Given the description of an element on the screen output the (x, y) to click on. 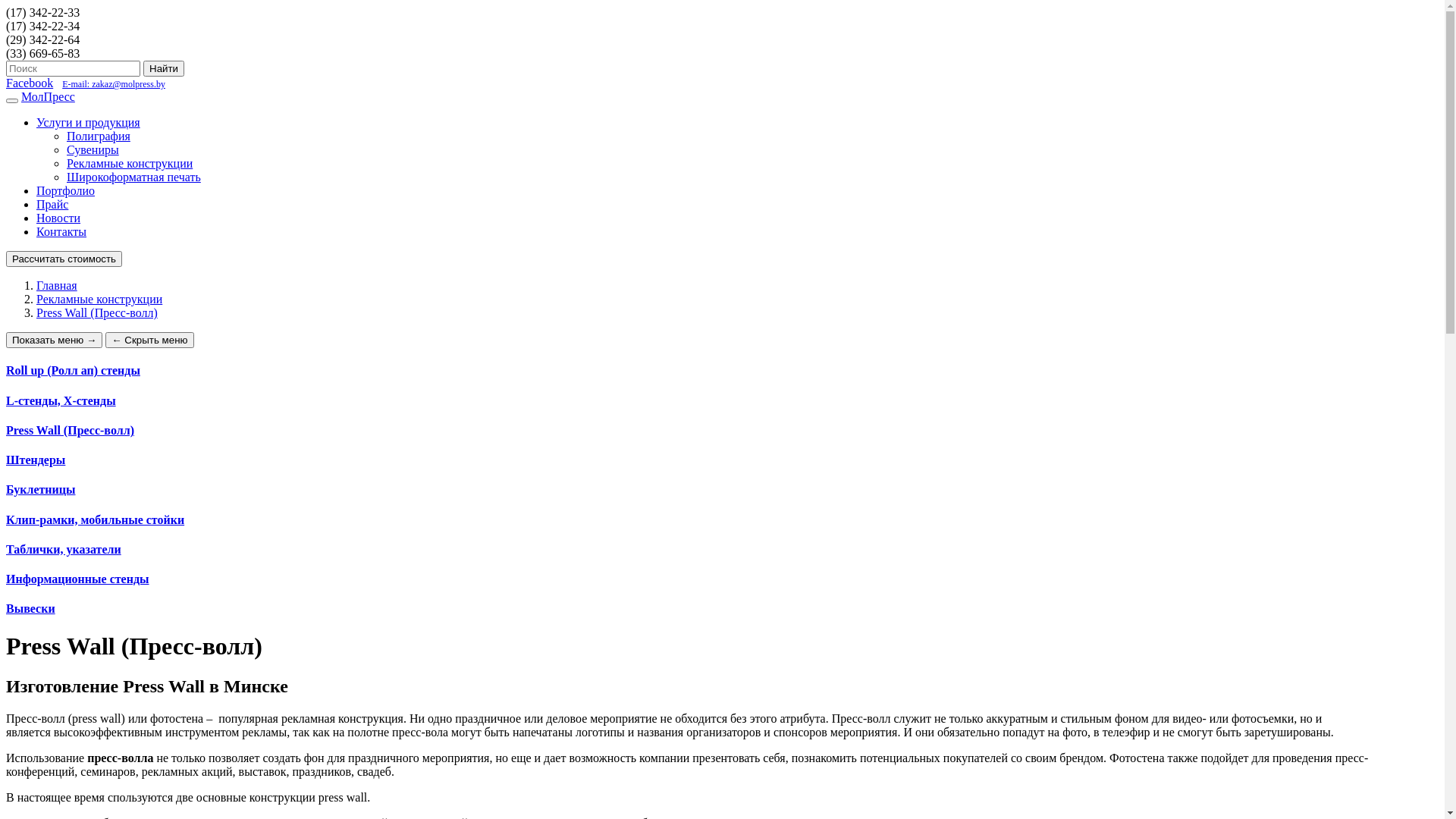
Facebook Element type: text (29, 82)
E-mail: zakaz@molpress.by Element type: text (113, 83)
